Given the description of an element on the screen output the (x, y) to click on. 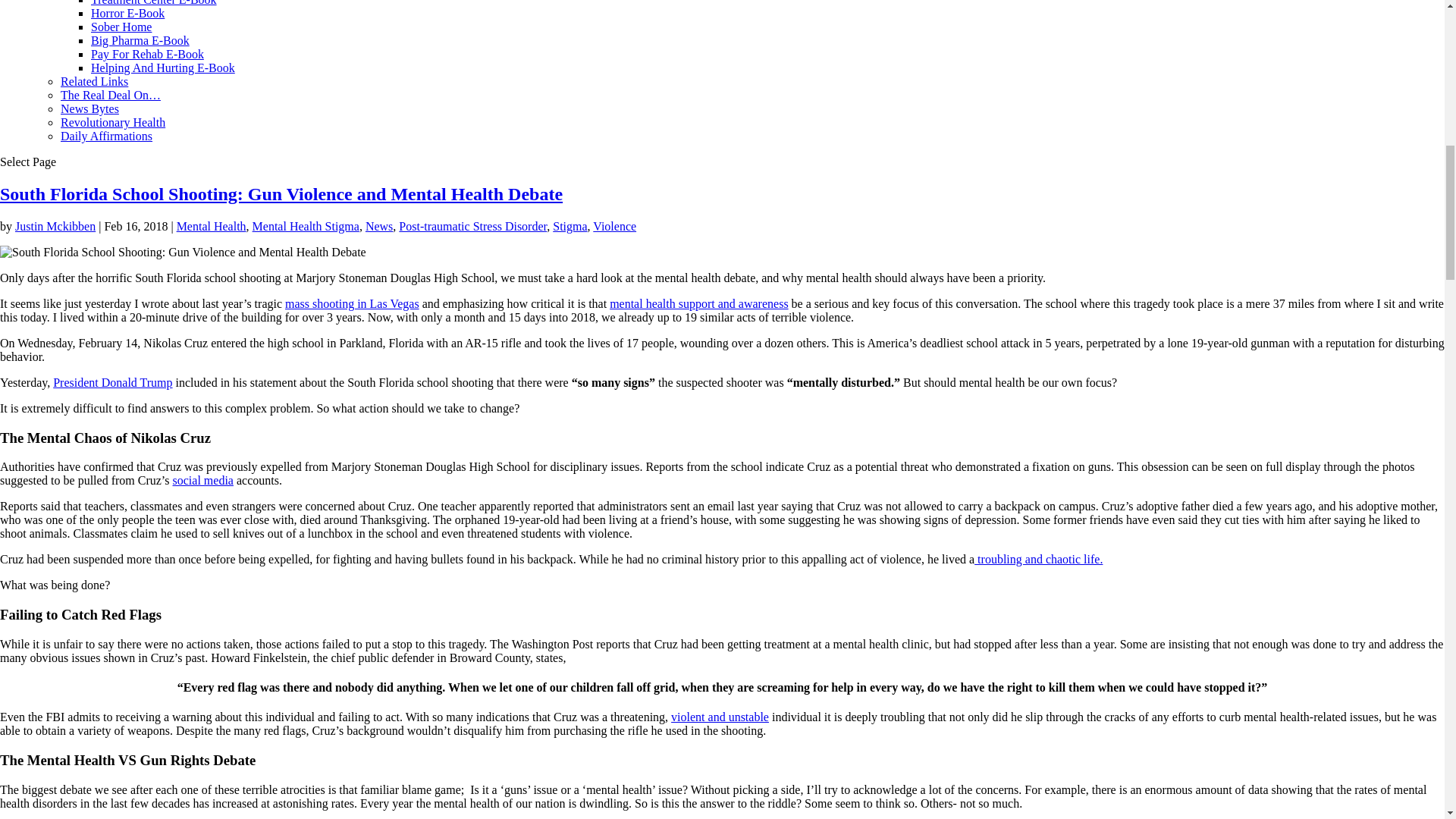
Posts by Justin Mckibben (55, 226)
